Given the description of an element on the screen output the (x, y) to click on. 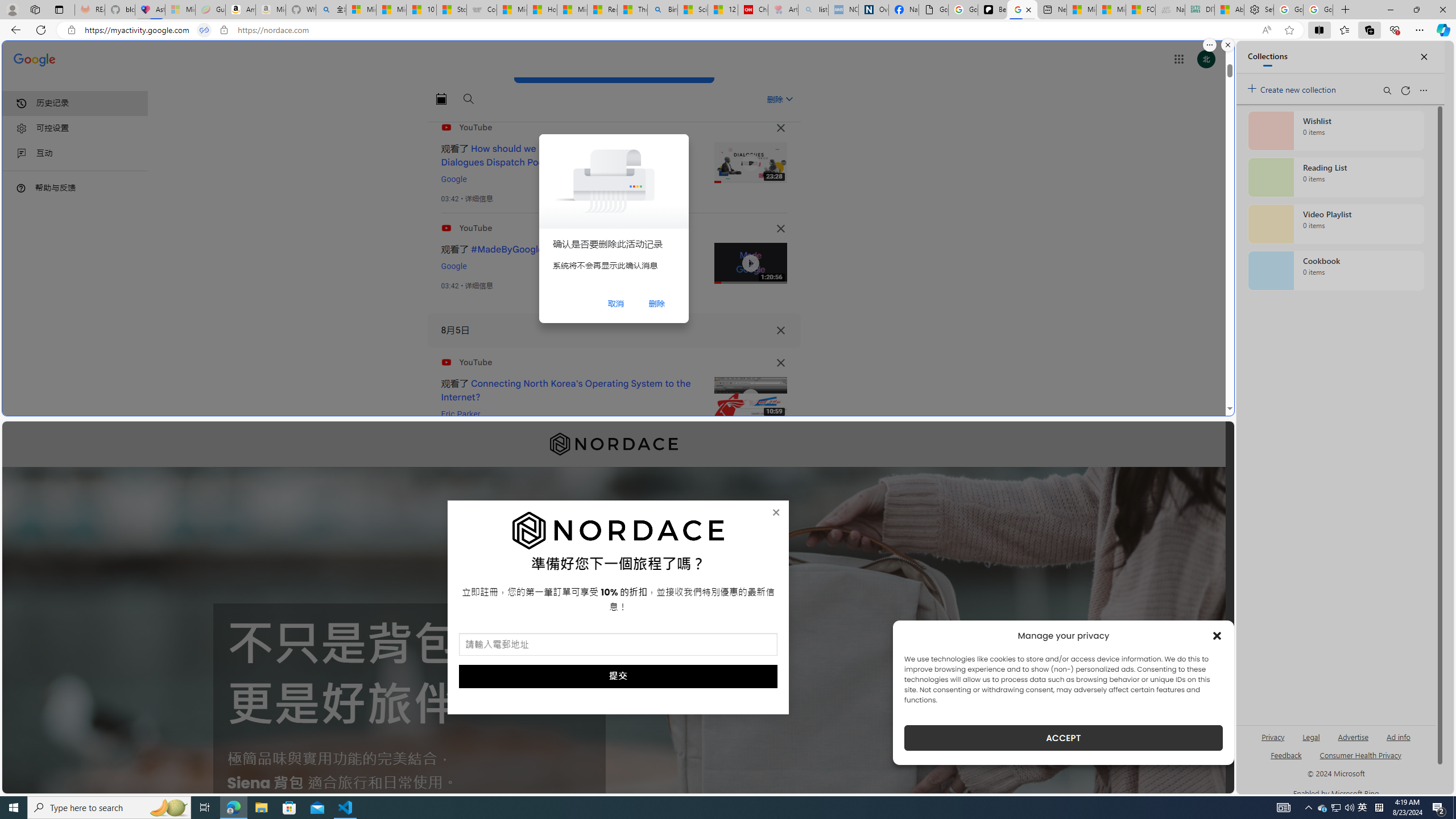
Tabs in split screen (203, 29)
Class: asE2Ub NMm5M (788, 99)
AutomationID: input_5_1 (617, 644)
AutomationID: sb_feedback (1286, 754)
